Given the description of an element on the screen output the (x, y) to click on. 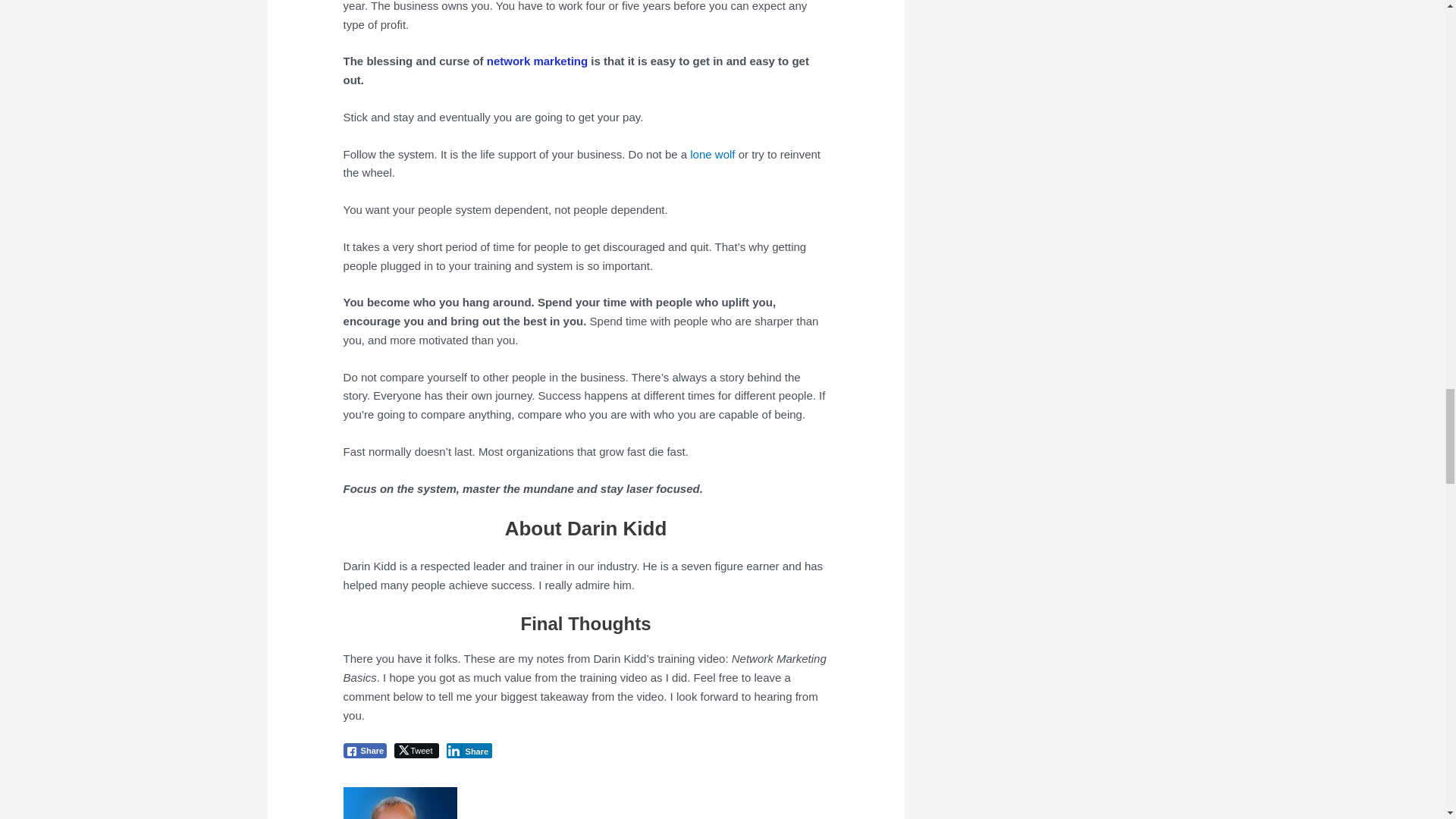
HB Naturals (537, 60)
